Given the description of an element on the screen output the (x, y) to click on. 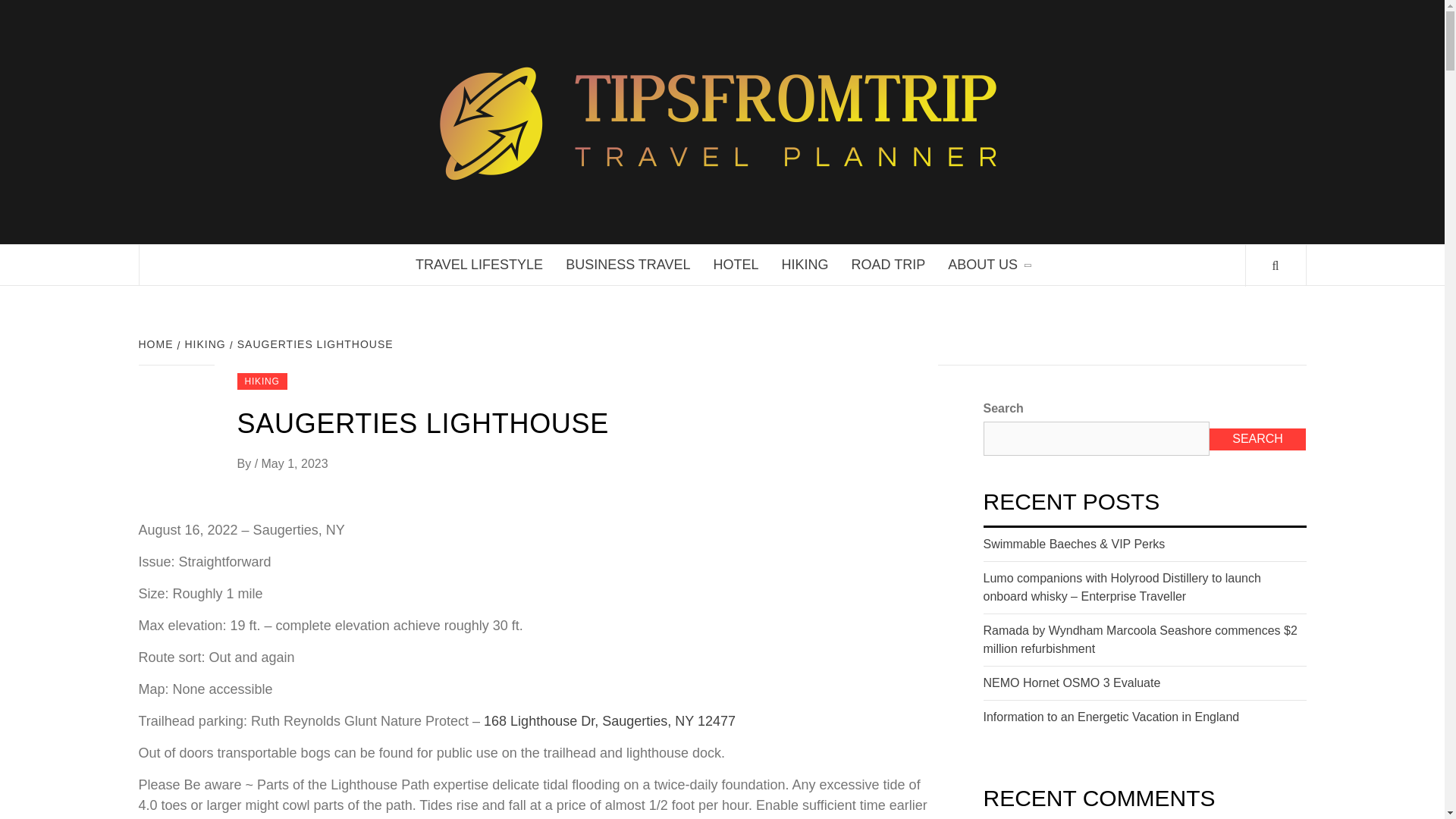
HOTEL (735, 264)
ROAD TRIP (888, 264)
HIKING (203, 344)
SAUGERTIES LIGHTHOUSE (313, 344)
TRAVEL LIFESTYLE (479, 264)
BUSINESS TRAVEL (627, 264)
168 Lighthouse Dr, Saugerties, NY 12477 (609, 720)
ABOUT US (988, 264)
FKMIE.COM (1118, 80)
HOME (157, 344)
